Given the description of an element on the screen output the (x, y) to click on. 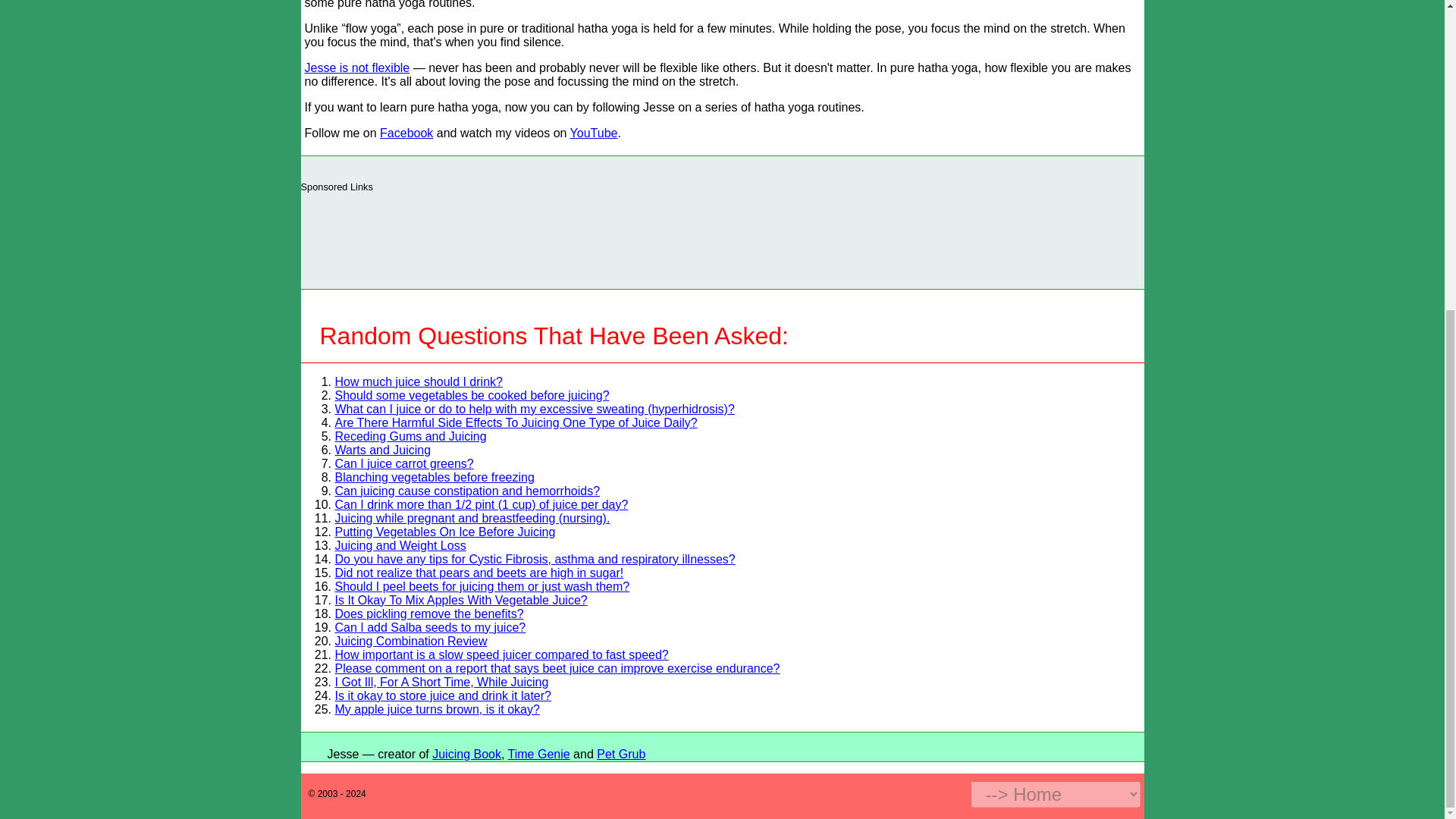
How important is a slow speed juicer compared to fast speed? (501, 654)
Putting Vegetables On Ice Before Juicing (445, 531)
Juicing Combination Review (410, 640)
Receding Gums and Juicing (410, 436)
Juicing and Weight Loss (399, 545)
Is It Okay To Mix Apples With Vegetable Juice? (461, 599)
Warts and Juicing (382, 449)
Blanching vegetables before freezing (434, 477)
Can juicing cause constipation and hemorrhoids? (466, 490)
